Given the description of an element on the screen output the (x, y) to click on. 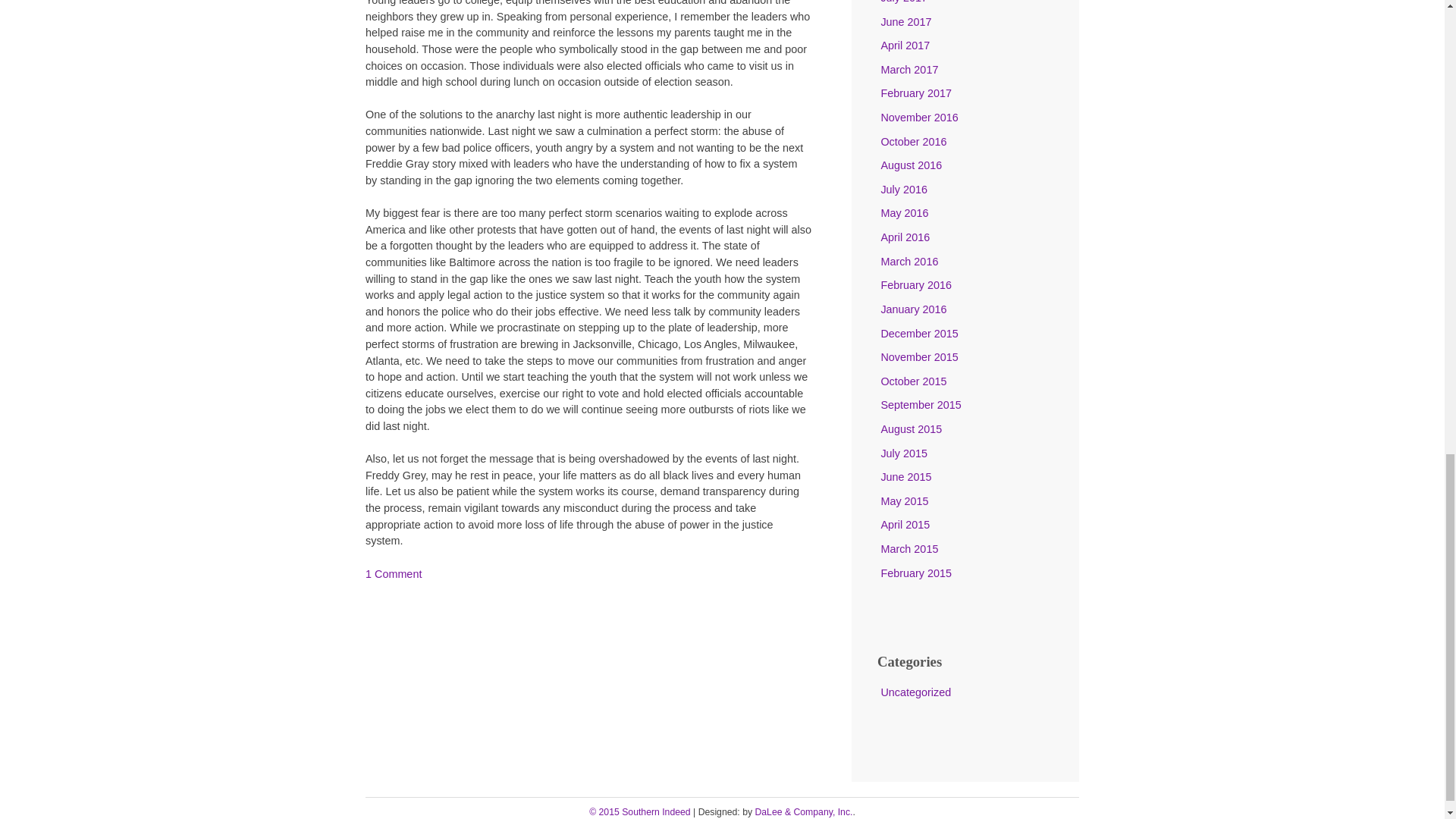
1 Comment (393, 573)
July 2017 (903, 2)
June 2017 (905, 21)
